Given the description of an element on the screen output the (x, y) to click on. 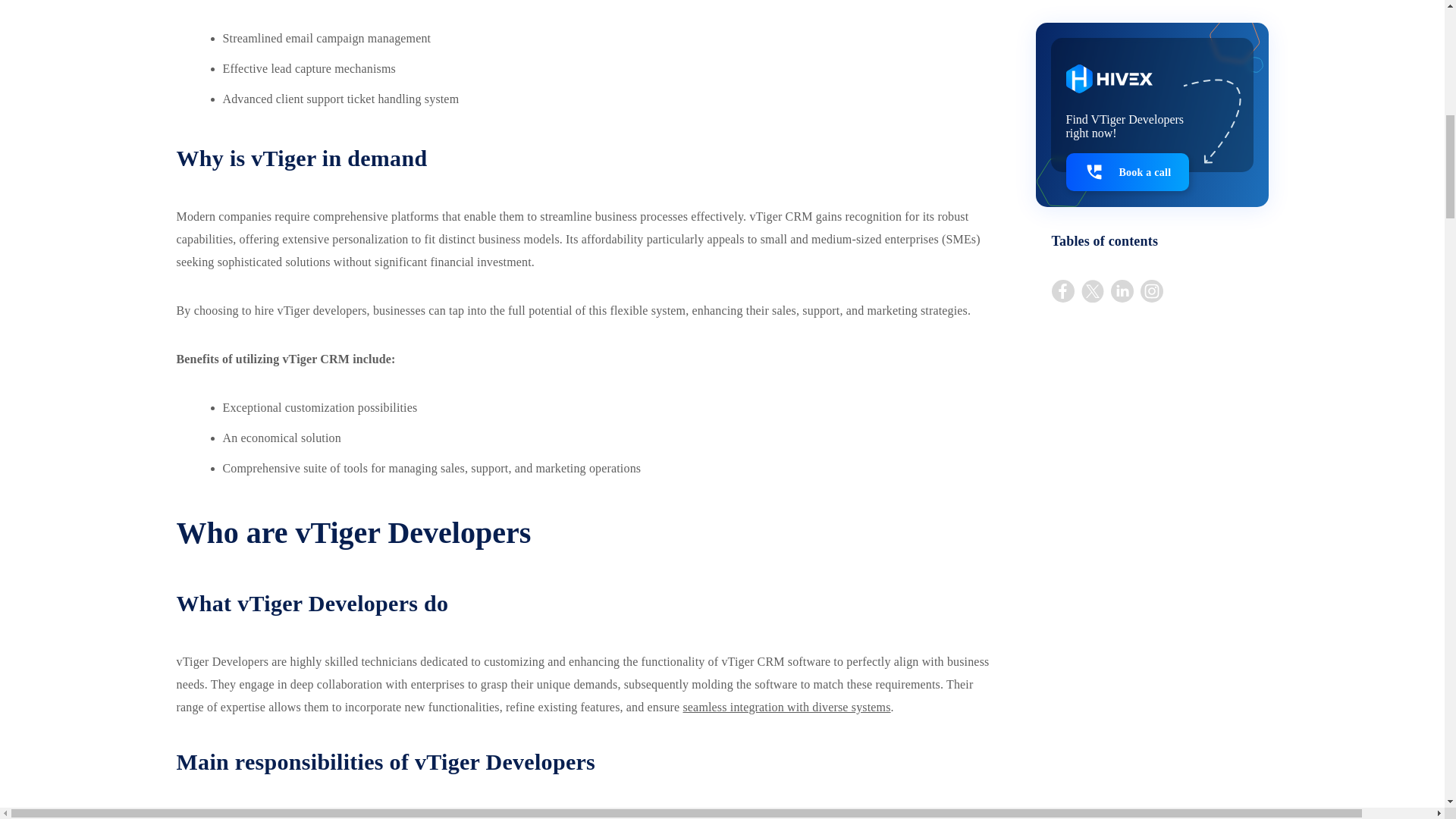
seamless integration with diverse systems (785, 707)
